Given the description of an element on the screen output the (x, y) to click on. 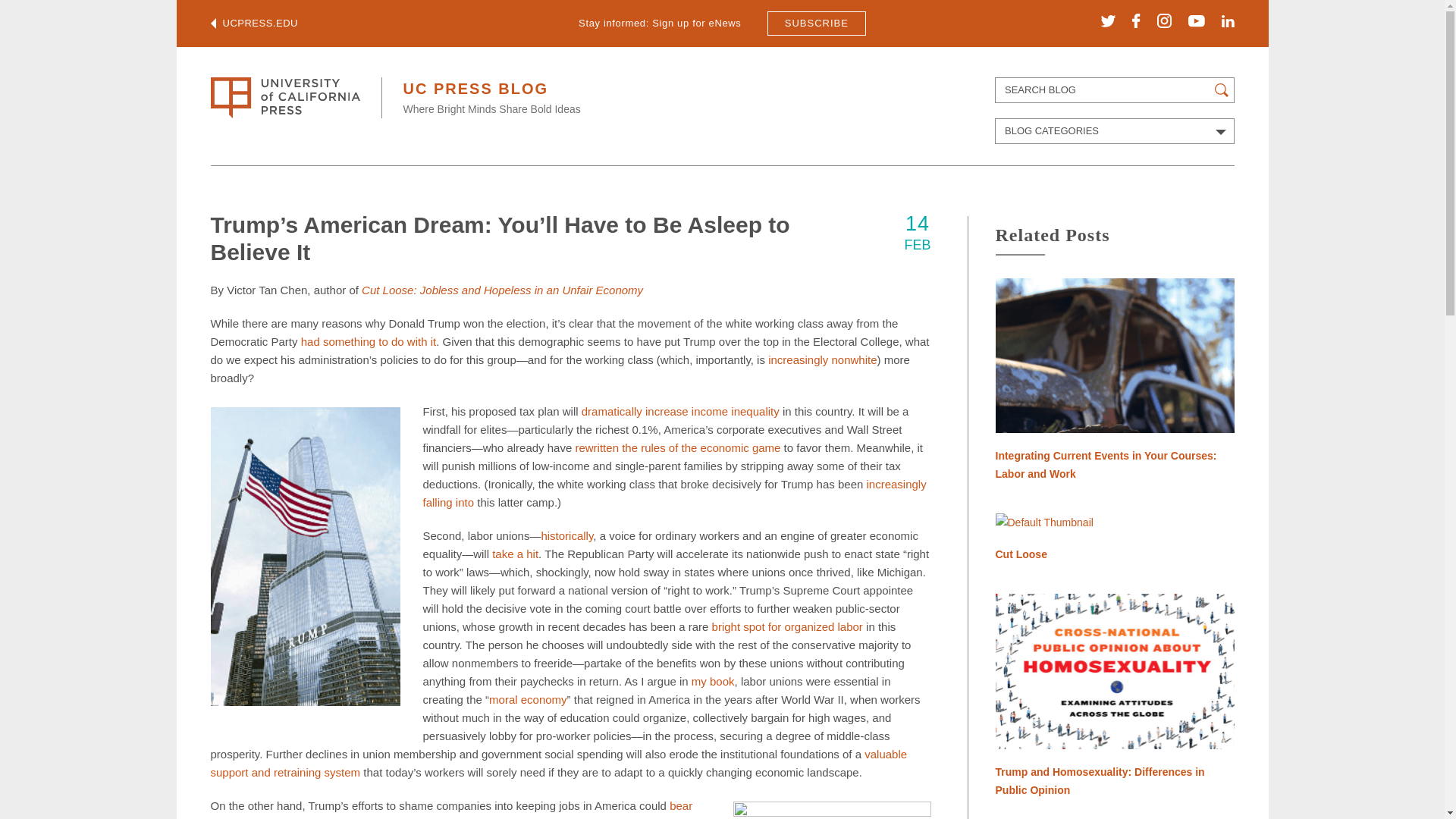
SEARCH BLOG (1114, 89)
Trump and Homosexuality: Differences in Public Opinion (1113, 695)
Integrating Current Events in Your Courses: Labor and Work (1113, 380)
SEARCH BLOG (1114, 89)
Cut Loose (1113, 538)
